Given the description of an element on the screen output the (x, y) to click on. 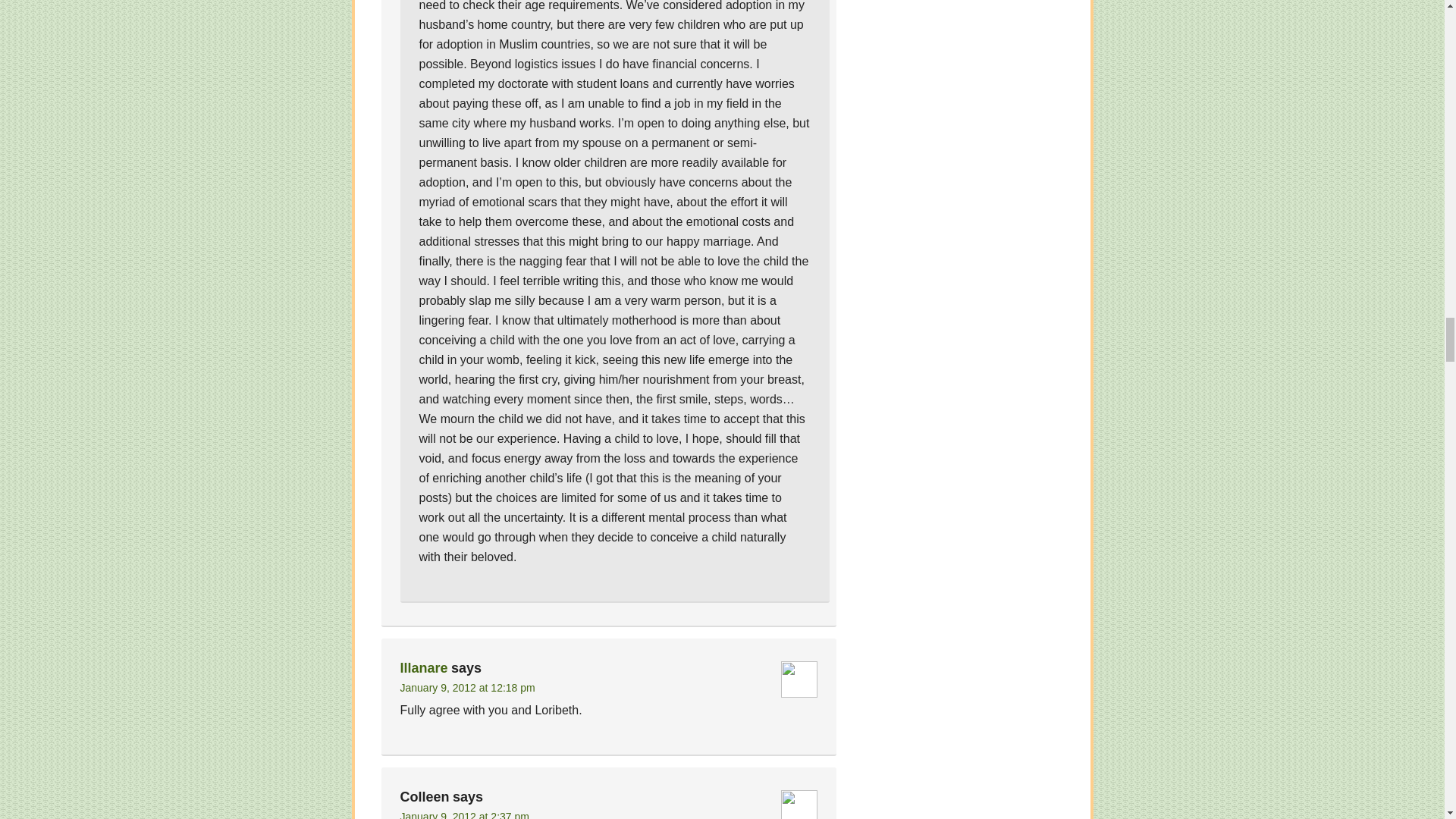
January 9, 2012 at 2:37 pm (464, 814)
January 9, 2012 at 12:18 pm (467, 687)
Illanare (424, 667)
